Given the description of an element on the screen output the (x, y) to click on. 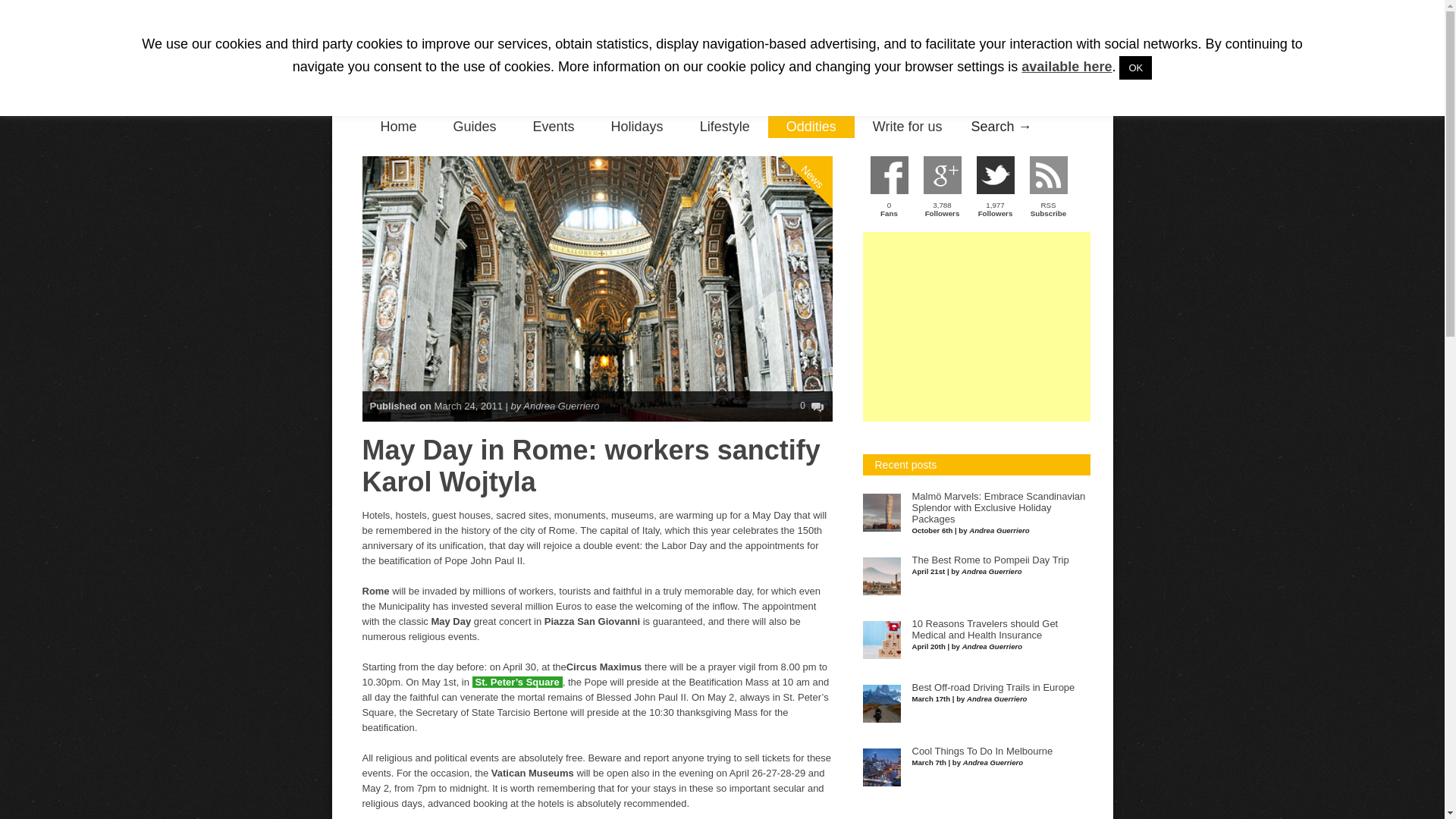
The Best Rome to Pompeii Day Trip (989, 560)
Write for us (907, 127)
10 Reasons Travelers should Get Medical and Health Insurance (984, 629)
Holidays (636, 127)
Lifestyle (724, 127)
News (828, 114)
Events (553, 127)
Best Off-road Driving Trails in Europe (992, 687)
Home (398, 127)
Advertisement (823, 56)
Guides (475, 127)
Oddities (811, 127)
Advertisement (976, 326)
Cool Things To Do In Melbourne (981, 751)
